Given the description of an element on the screen output the (x, y) to click on. 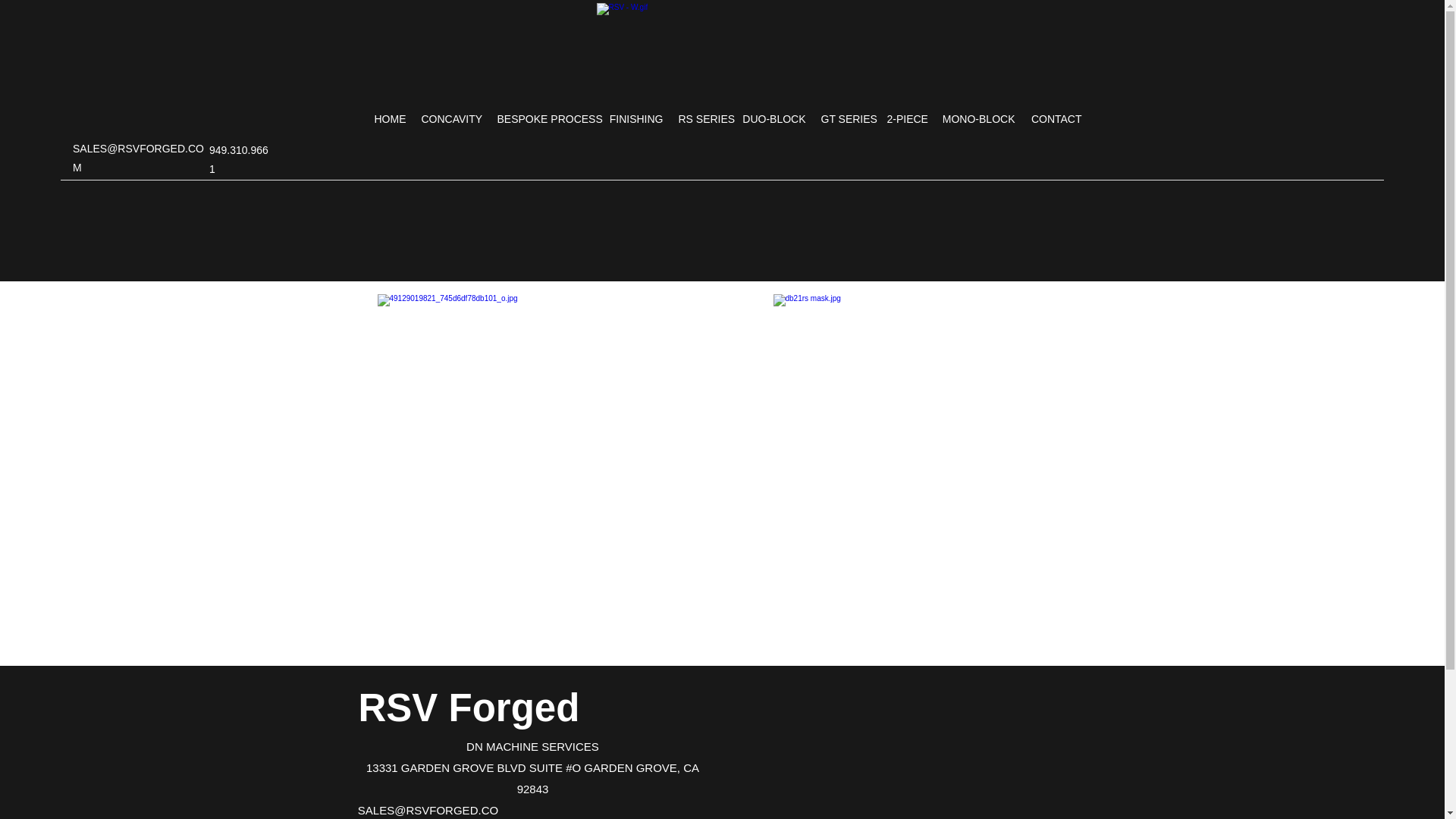
RS SERIES (701, 117)
DUO-BLOCK (772, 117)
CONCAVITY (451, 117)
GT SERIES (845, 117)
HOME (389, 117)
2-PIECE (906, 117)
BESPOKE PROCESS (545, 117)
MONO-BLOCK (978, 117)
FINISHING (636, 117)
